Given the description of an element on the screen output the (x, y) to click on. 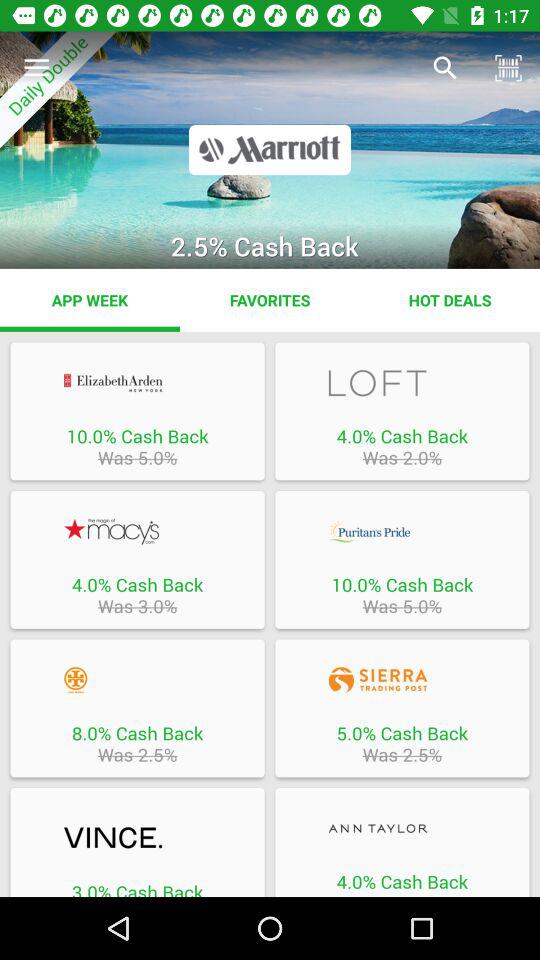
click the anntaylor (402, 828)
